Given the description of an element on the screen output the (x, y) to click on. 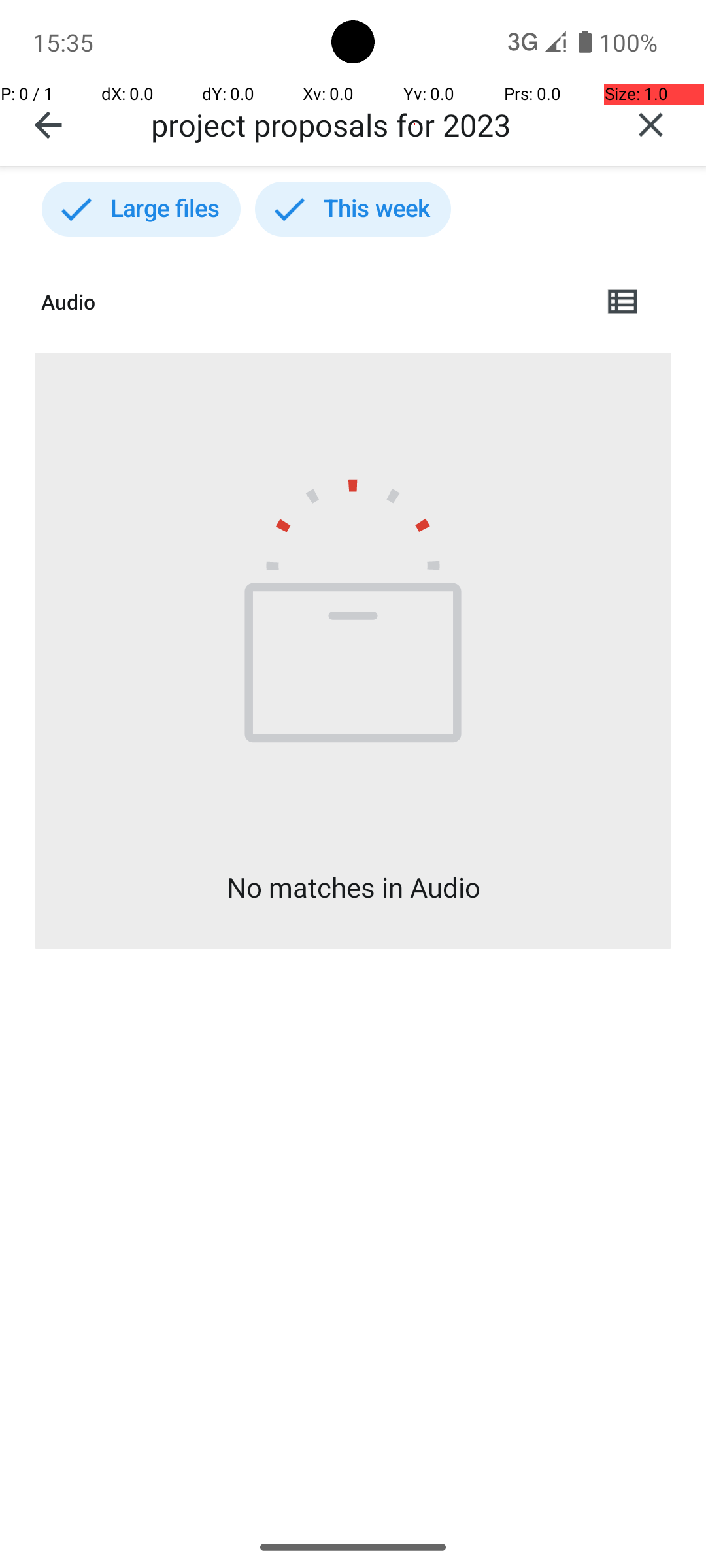
project proposals for 2023 Element type: android.widget.AutoCompleteTextView (373, 124)
Clear query Element type: android.widget.ImageView (650, 124)
No matches in Audio Element type: android.widget.TextView (352, 886)
